Given the description of an element on the screen output the (x, y) to click on. 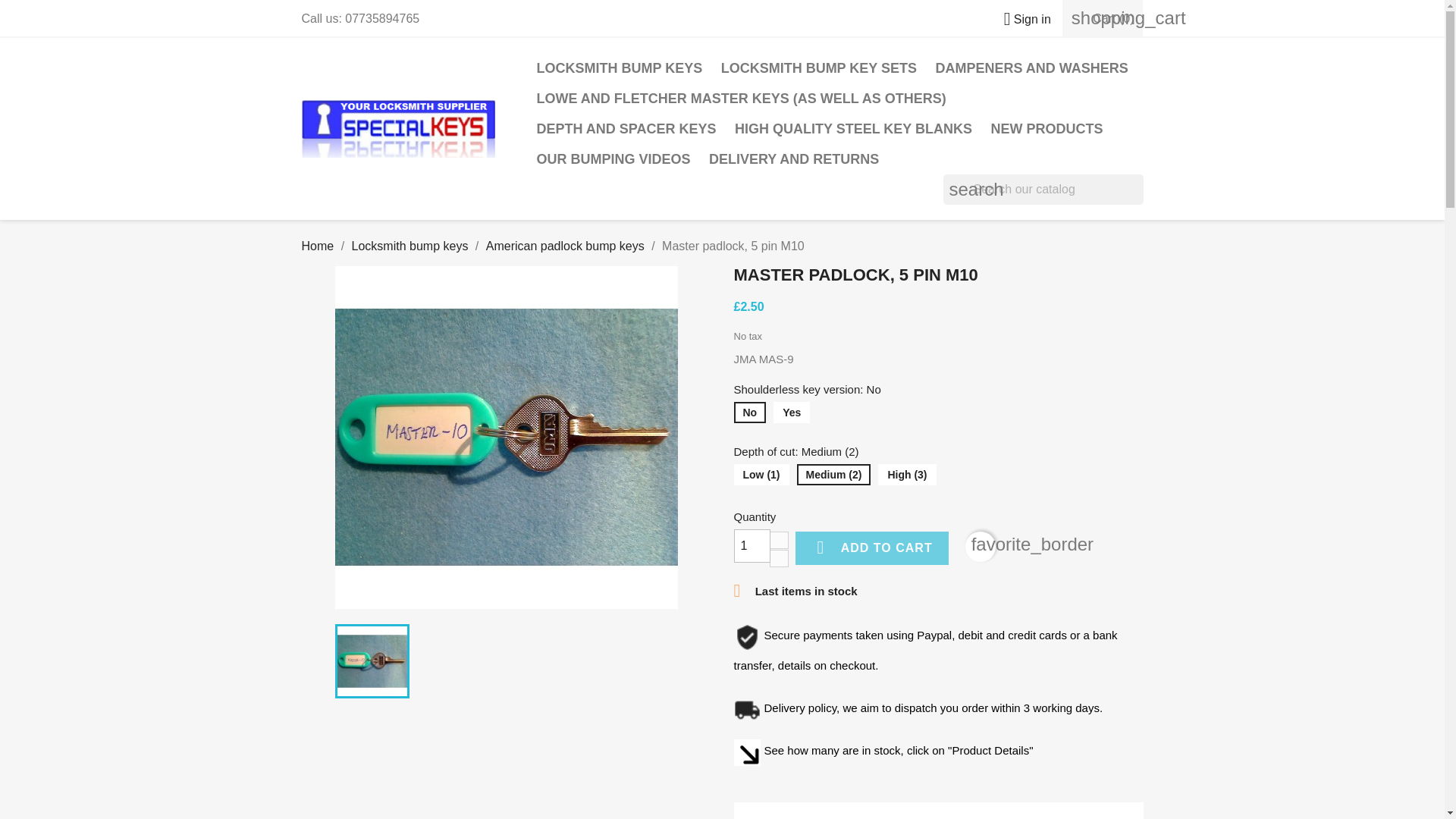
Master padlock, 5 pin M10 (371, 661)
Home (317, 245)
Product Details (897, 818)
Log in to your customer account (1020, 19)
Locksmith bump keys (410, 245)
HIGH QUALITY STEEL KEY BLANKS (852, 128)
DELIVERY AND RETURNS (793, 159)
American padlock bump keys (565, 245)
NEW PRODUCTS (1045, 128)
OUR BUMPING VIDEOS (613, 159)
DAMPENERS AND WASHERS (1031, 68)
LOCKSMITH BUMP KEY SETS (818, 68)
1 (751, 545)
LOCKSMITH BUMP KEYS (619, 68)
DEPTH AND SPACER KEYS (626, 128)
